Given the description of an element on the screen output the (x, y) to click on. 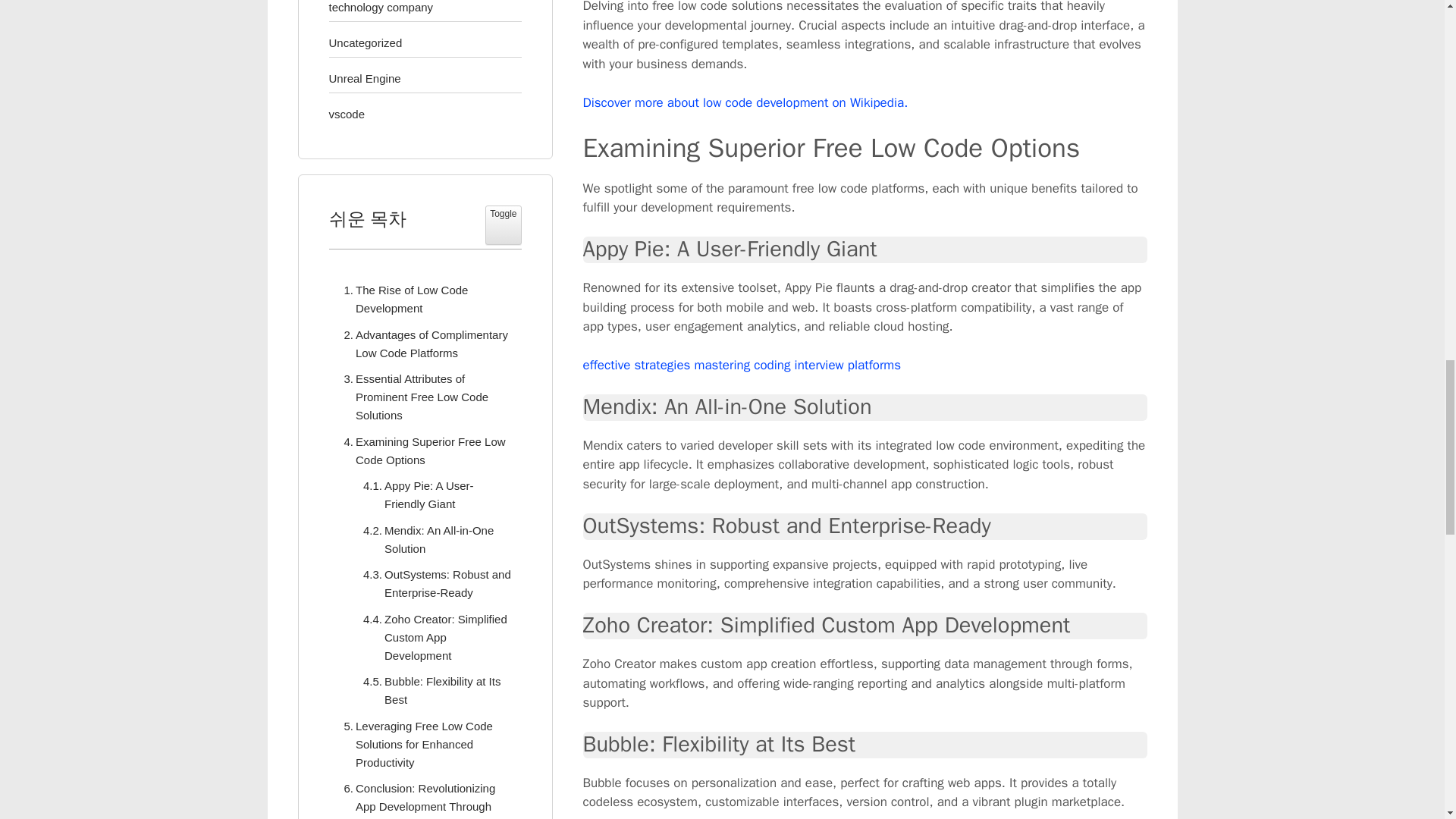
Advantages of Complimentary Low Code Platforms (424, 343)
effective strategies mastering coding interview platforms (741, 365)
The Rise of Low Code Development (424, 299)
Essential Attributes of Prominent Free Low Code Solutions (424, 397)
Discover more about low code development on Wikipedia. (744, 102)
